Given the description of an element on the screen output the (x, y) to click on. 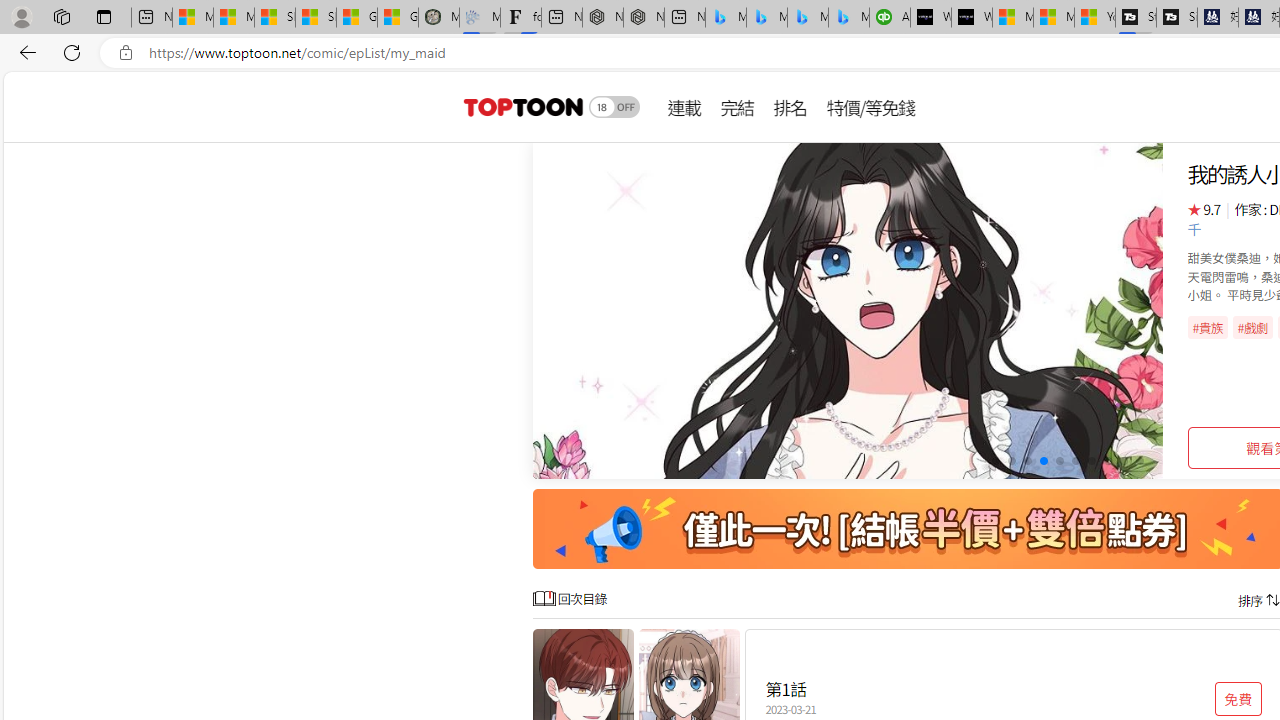
Go to slide 5 (1058, 461)
Microsoft Start Sports (1012, 17)
Microsoft Bing Travel - Stays in Bangkok, Bangkok, Thailand (767, 17)
Nordace - #1 Japanese Best-Seller - Siena Smart Backpack (643, 17)
Class:  switch_18mode actionAdultBtn (614, 106)
Go to slide 10 (1139, 461)
Accounting Software for Accountants, CPAs and Bookkeepers (890, 17)
Go to slide 6 (1075, 461)
